Given the description of an element on the screen output the (x, y) to click on. 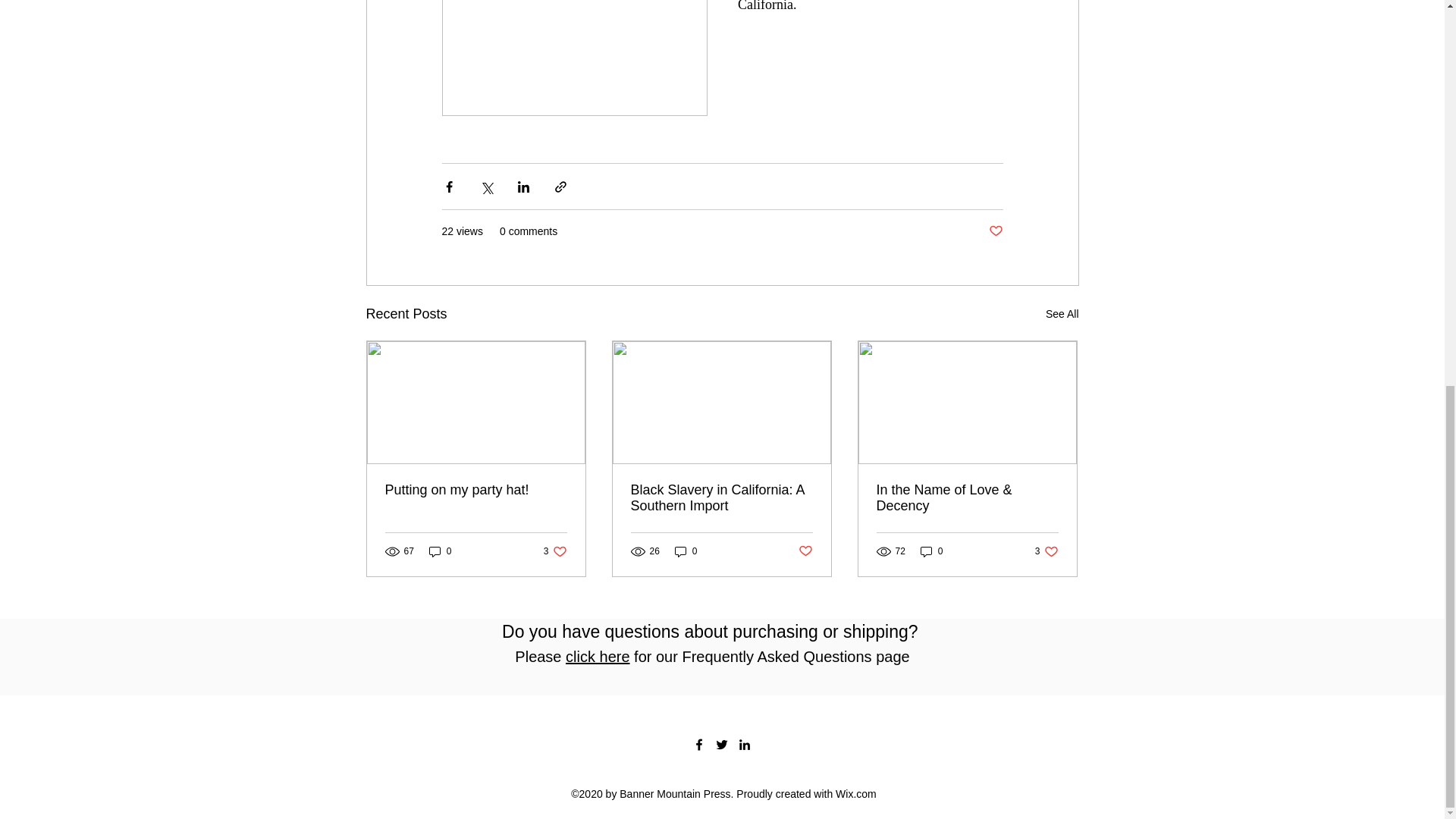
Black Slavery in California: A Southern Import (721, 498)
Post not marked as liked (804, 551)
0 (440, 551)
Putting on my party hat! (1046, 551)
0 (555, 551)
Post not marked as liked (476, 489)
click here (685, 551)
0 (995, 231)
